Given the description of an element on the screen output the (x, y) to click on. 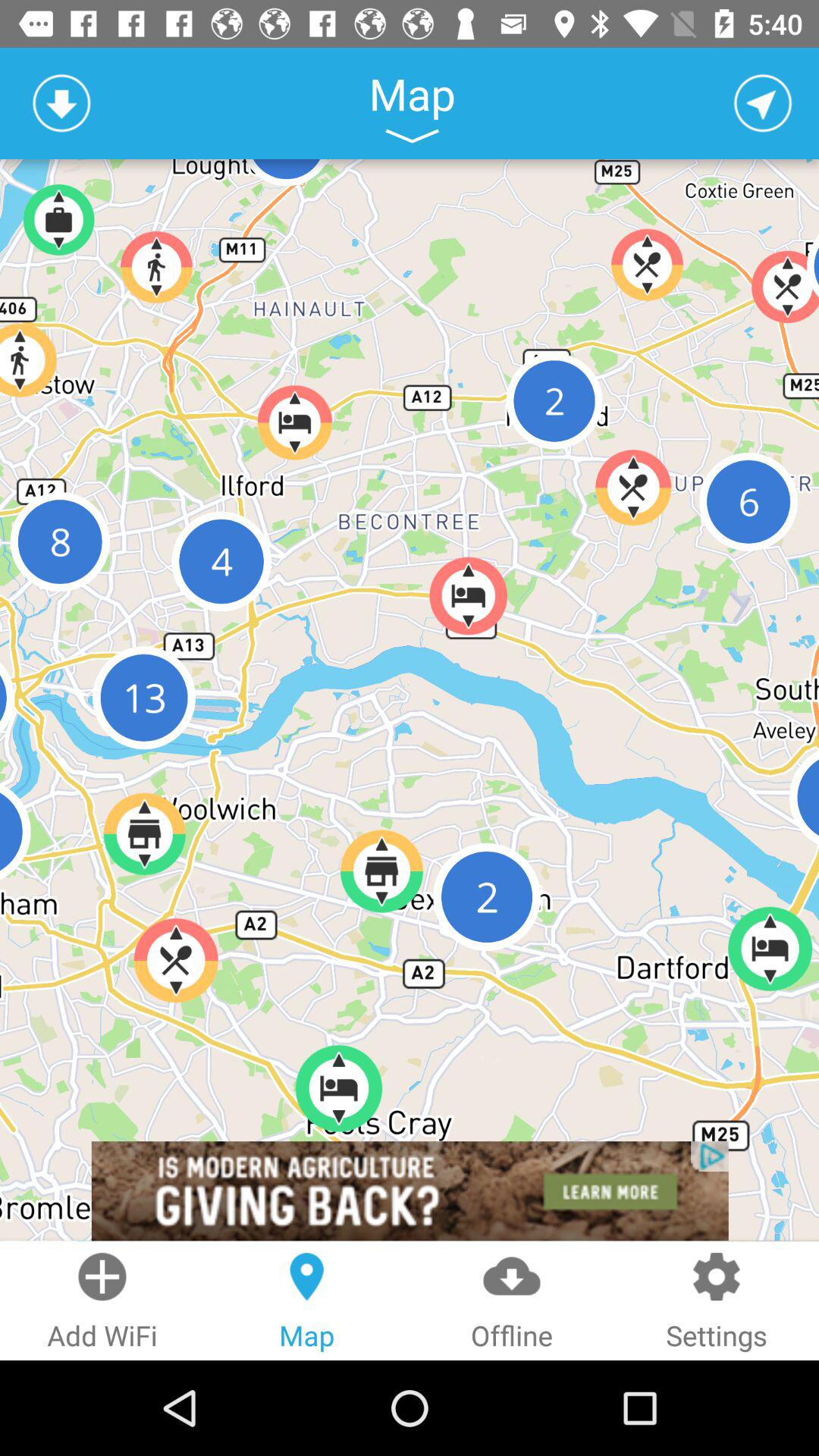
more options (412, 136)
